Given the description of an element on the screen output the (x, y) to click on. 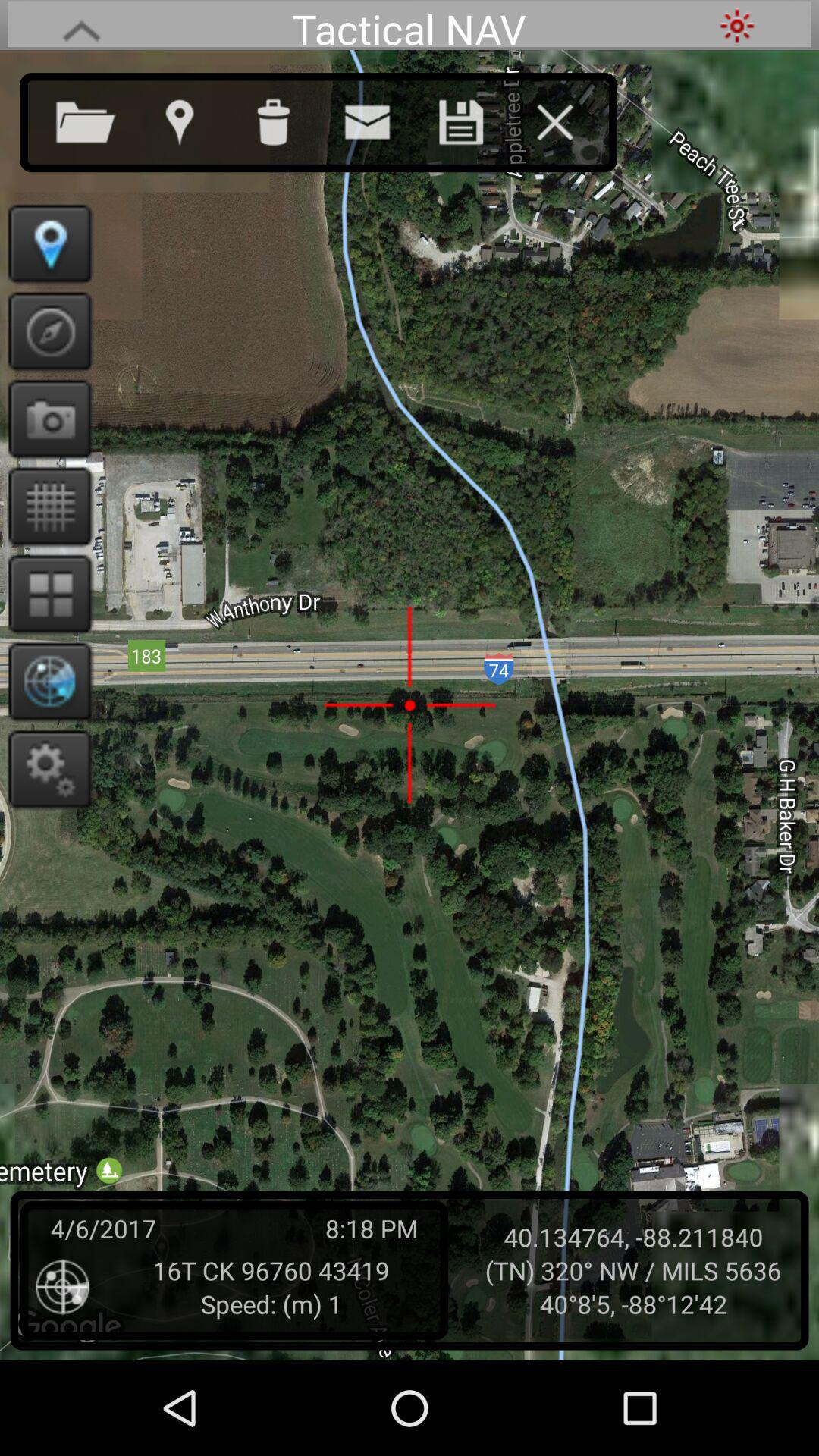
photo option (45, 418)
